Given the description of an element on the screen output the (x, y) to click on. 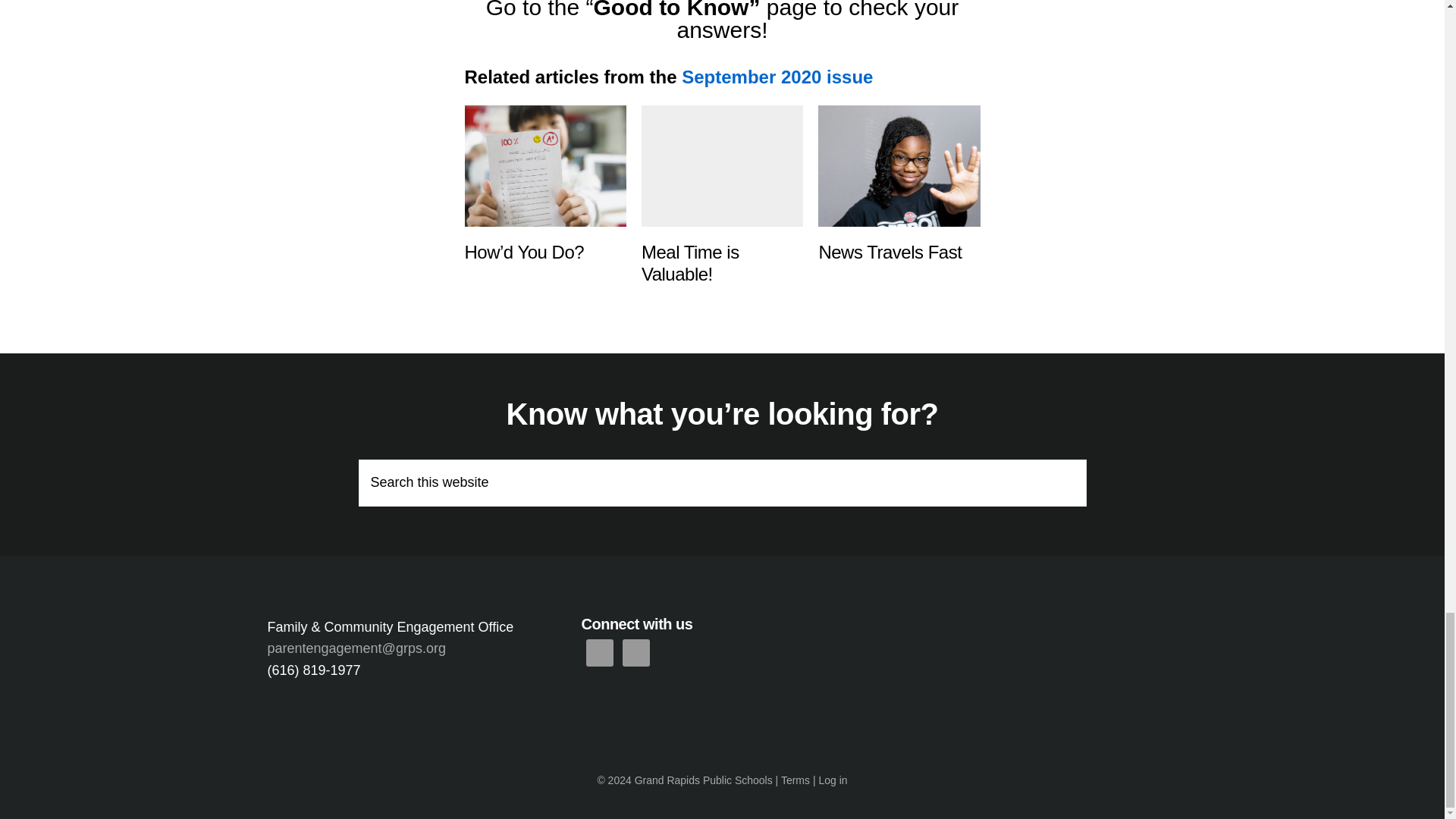
Search (1072, 469)
Search (1072, 469)
